Given the description of an element on the screen output the (x, y) to click on. 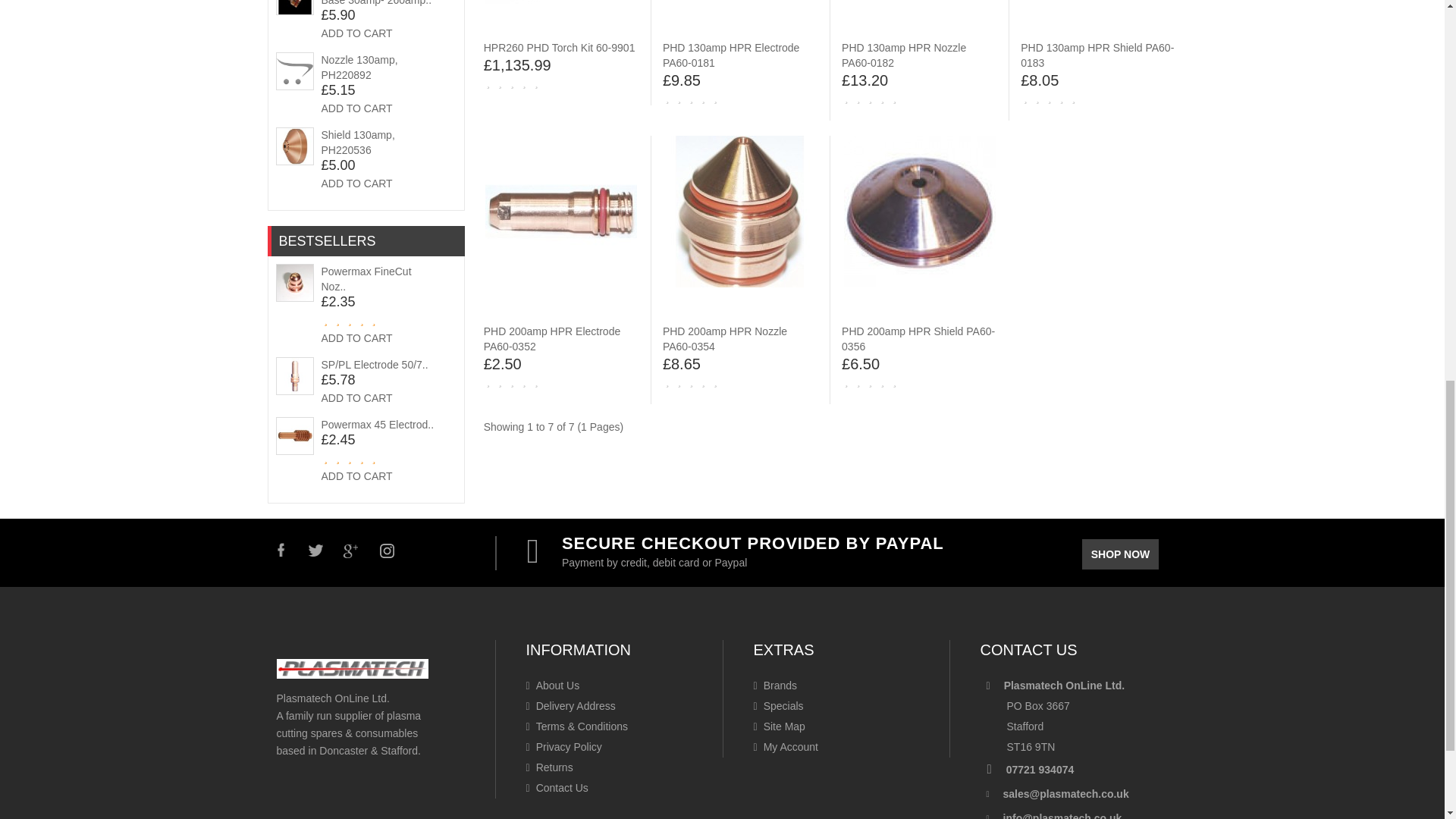
Shield 130amp, PH220536 (294, 145)
Nozzle 130amp, PH220892  (294, 71)
Powermax FineCut Nozzle 45amp PH220930 (294, 282)
Nozzle 130amp, PH220892  (359, 67)
PlasmaCUT Nozzle Base 30amp- 260amp PH22001 (376, 2)
Powermax FineCut Nozzle 45amp PH220930 (366, 278)
PlasmaCUT Nozzle Base 30amp- 260amp PH22001 (294, 7)
Shield 130amp, PH220536 (357, 142)
